Given the description of an element on the screen output the (x, y) to click on. 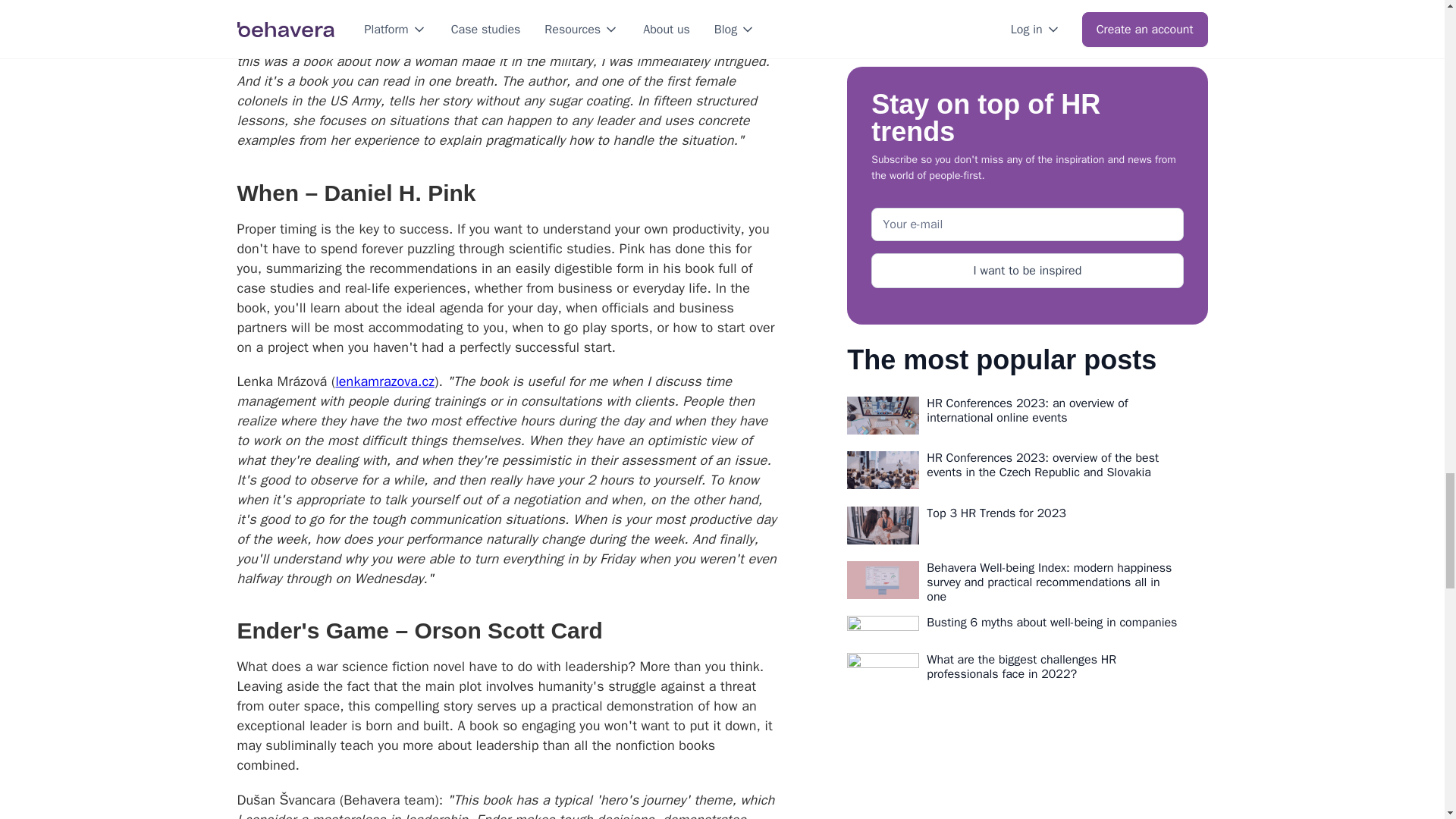
lenkamrazova.cz (383, 381)
